Given the description of an element on the screen output the (x, y) to click on. 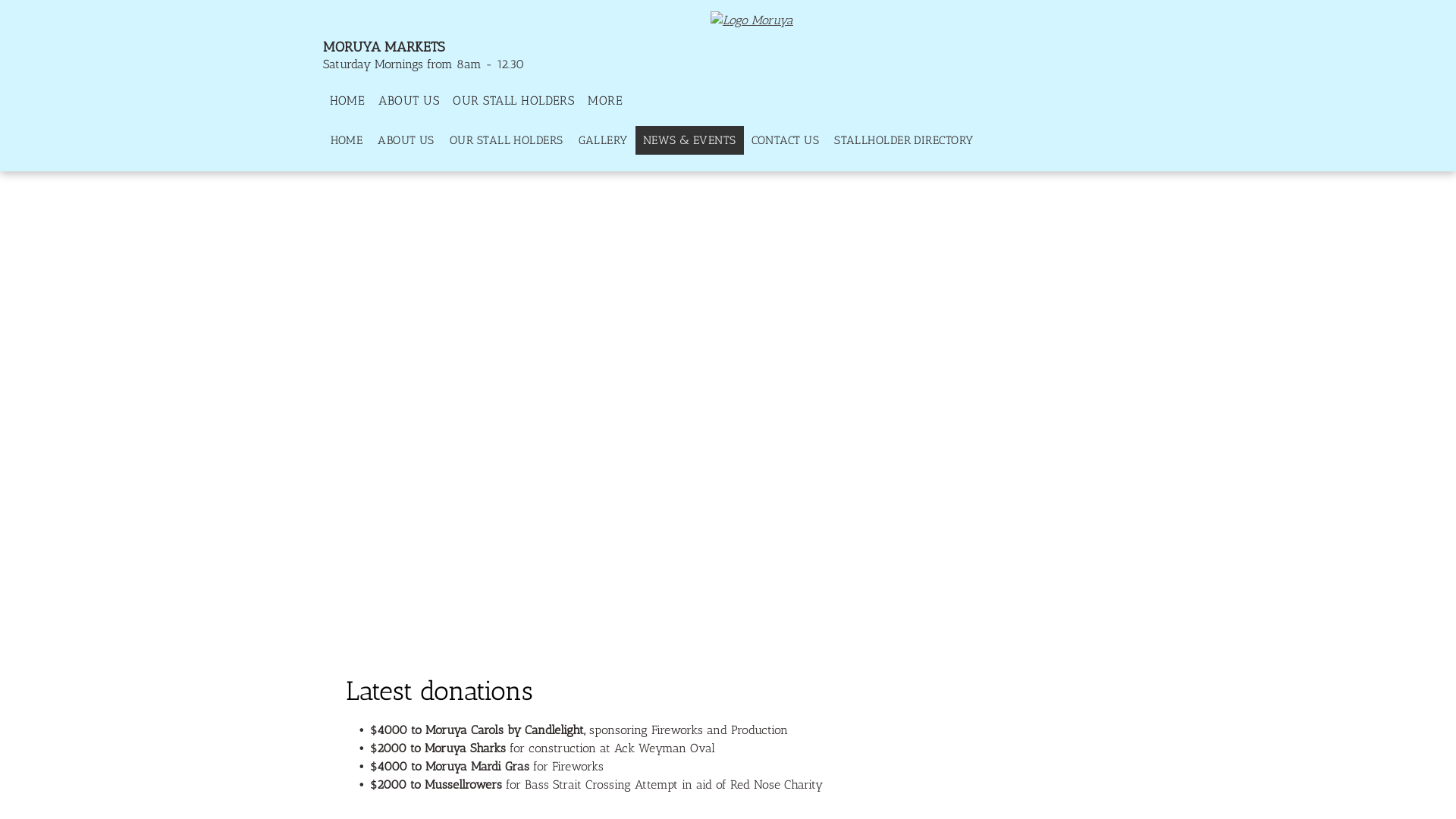
NEWS & EVENTS Element type: text (689, 140)
GALLERY Element type: text (603, 140)
HOME Element type: text (346, 140)
ABOUT US Element type: text (408, 100)
HOME Element type: text (347, 100)
ABOUT US Element type: text (406, 140)
OUR STALL HOLDERS Element type: text (506, 140)
MORE Element type: text (608, 100)
CONTACT US Element type: text (785, 140)
OUR STALL HOLDERS Element type: text (512, 100)
STALLHOLDER DIRECTORY Element type: text (903, 140)
